Given the description of an element on the screen output the (x, y) to click on. 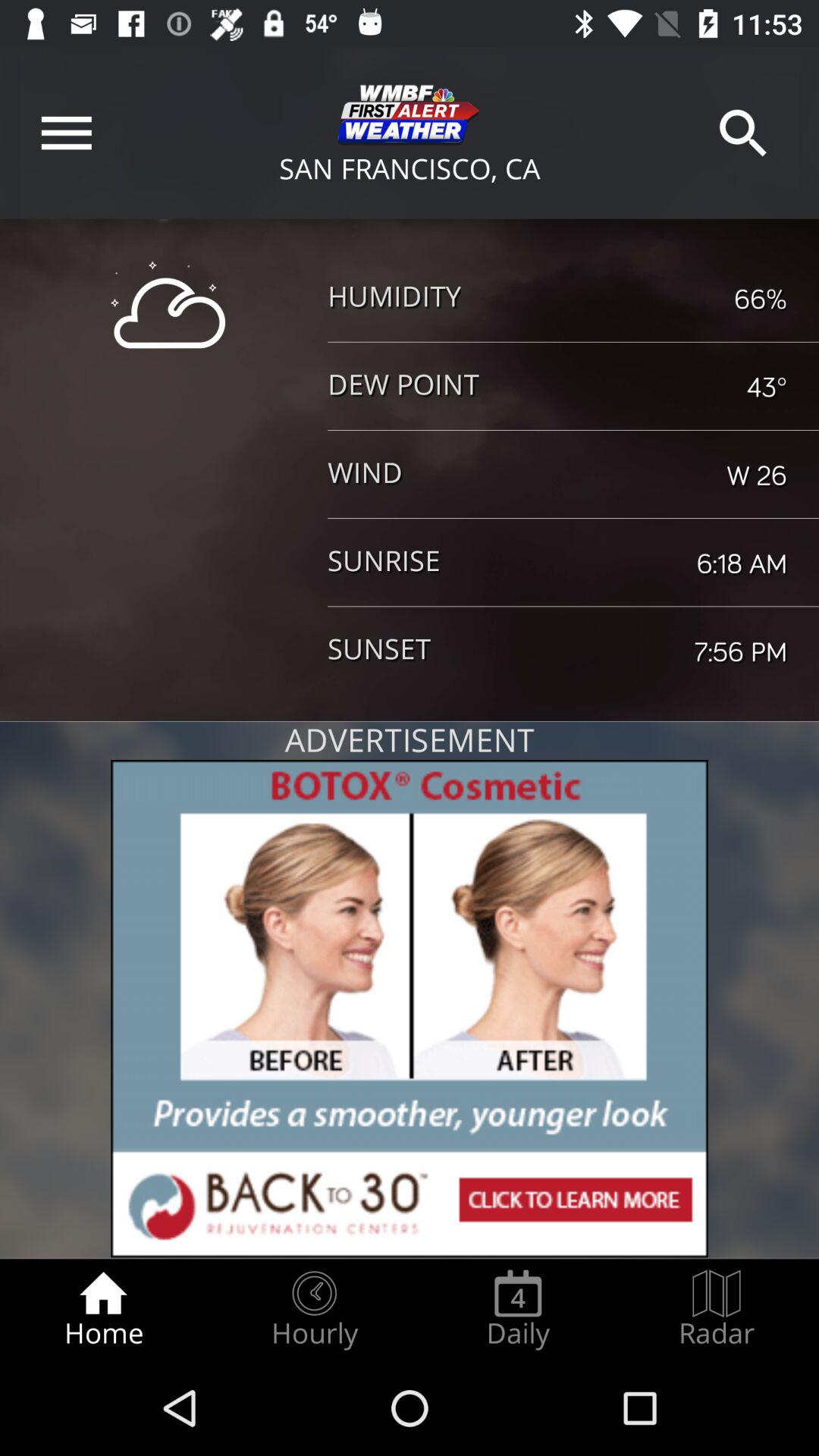
choose icon to the left of radar icon (518, 1309)
